Given the description of an element on the screen output the (x, y) to click on. 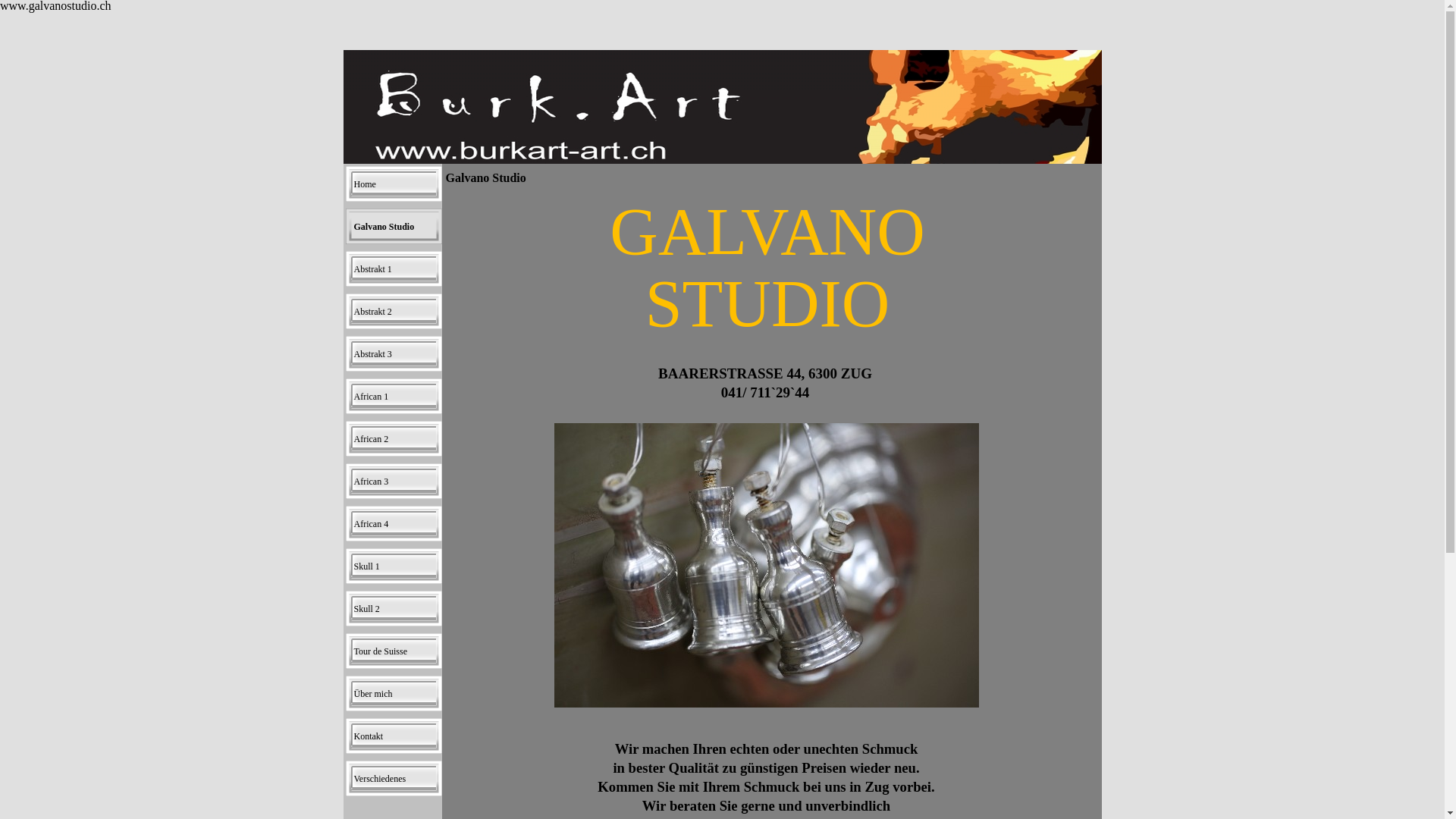
Skull 1 Element type: text (393, 566)
Abstrakt 3 Element type: text (393, 353)
African 2 Element type: text (393, 438)
Kontakt Element type: text (393, 736)
Abstrakt 1 Element type: text (393, 269)
Home Element type: text (393, 184)
African 3 Element type: text (393, 481)
Skull 2 Element type: text (393, 608)
African 1 Element type: text (393, 396)
African 4 Element type: text (393, 523)
Tour de Suisse Element type: text (393, 651)
Galvano Studio Element type: text (393, 226)
Verschiedenes Element type: text (393, 778)
Abstrakt 2 Element type: text (393, 311)
